Given the description of an element on the screen output the (x, y) to click on. 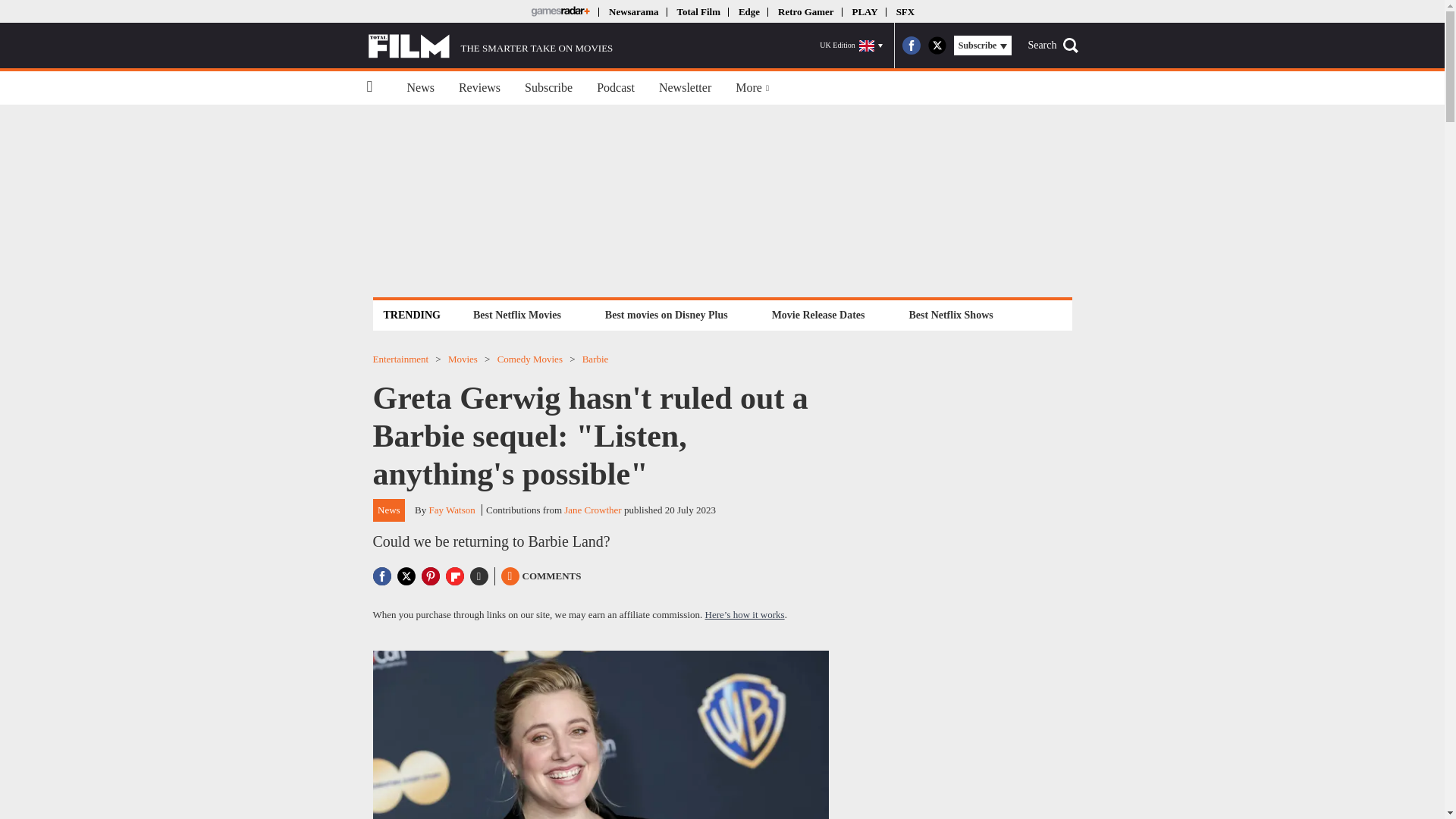
PLAY (864, 11)
Edge (749, 11)
News (419, 87)
Best Netflix Movies (516, 314)
Subscribe (548, 87)
Podcast (615, 87)
SFX (905, 11)
Movie Release Dates (818, 314)
Reviews (479, 87)
Total Film (698, 11)
